Given the description of an element on the screen output the (x, y) to click on. 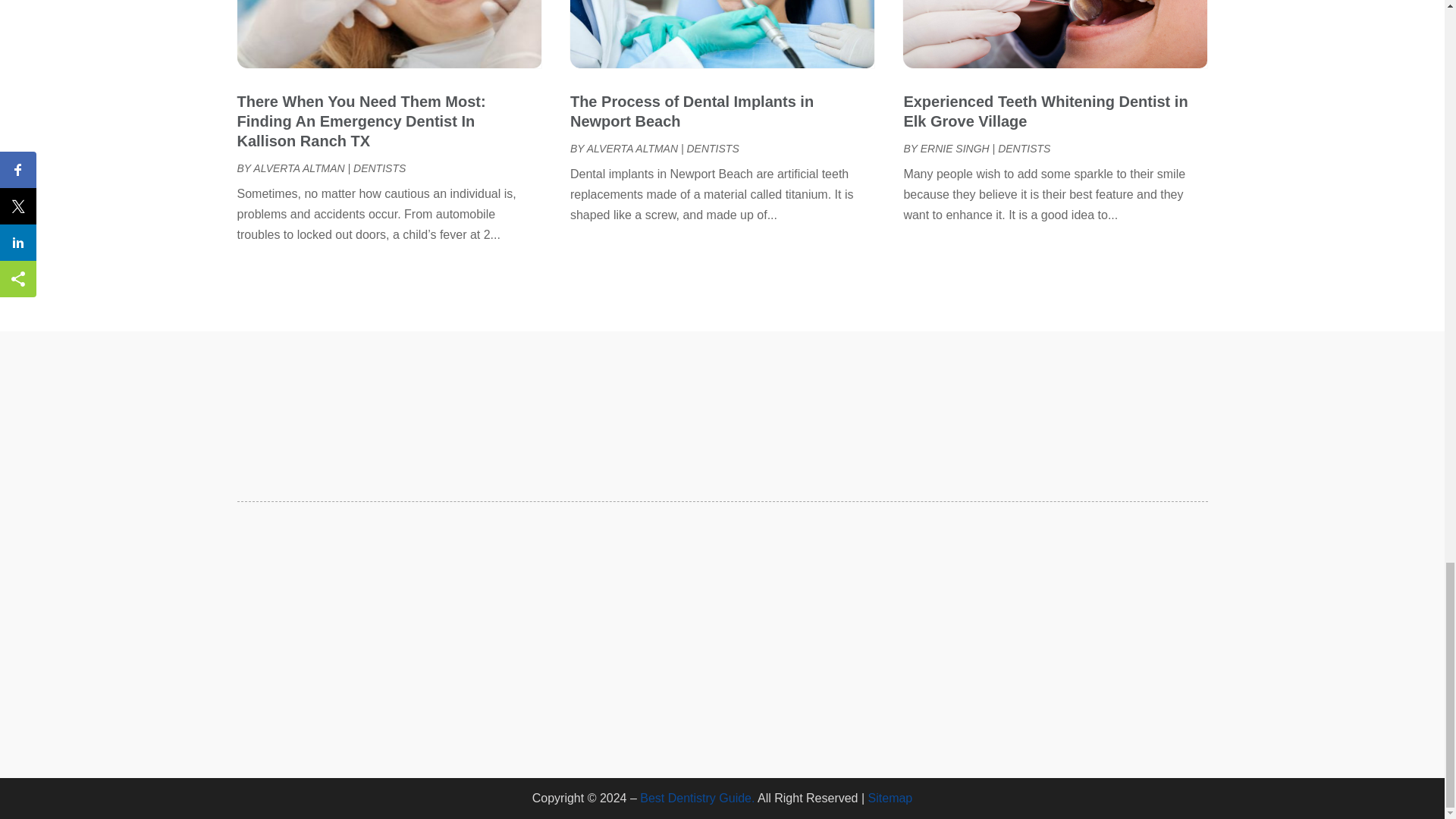
Posts by Alverta Altman (632, 148)
Posts by Alverta Altman (298, 168)
Posts by ERNIE SINGH (955, 148)
